Given the description of an element on the screen output the (x, y) to click on. 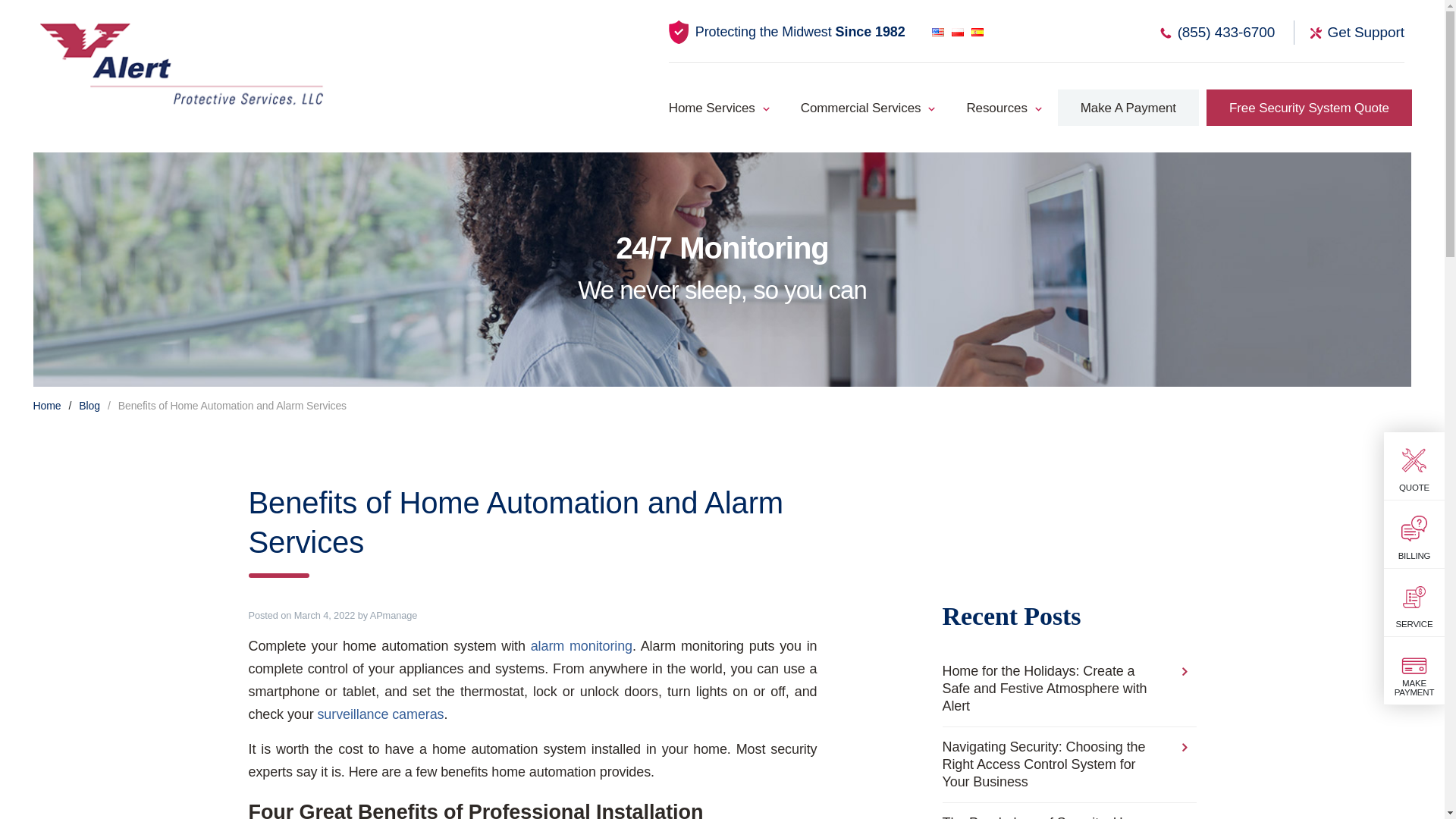
Commercial Security Systems (860, 111)
Home Services (722, 111)
alarm monitoring (581, 645)
Home Security Systems (722, 111)
Resources (996, 111)
Blog (89, 406)
March 4, 2022 (324, 614)
Alert Protective (182, 63)
Home (47, 406)
Make A Payment (1128, 107)
